Given the description of an element on the screen output the (x, y) to click on. 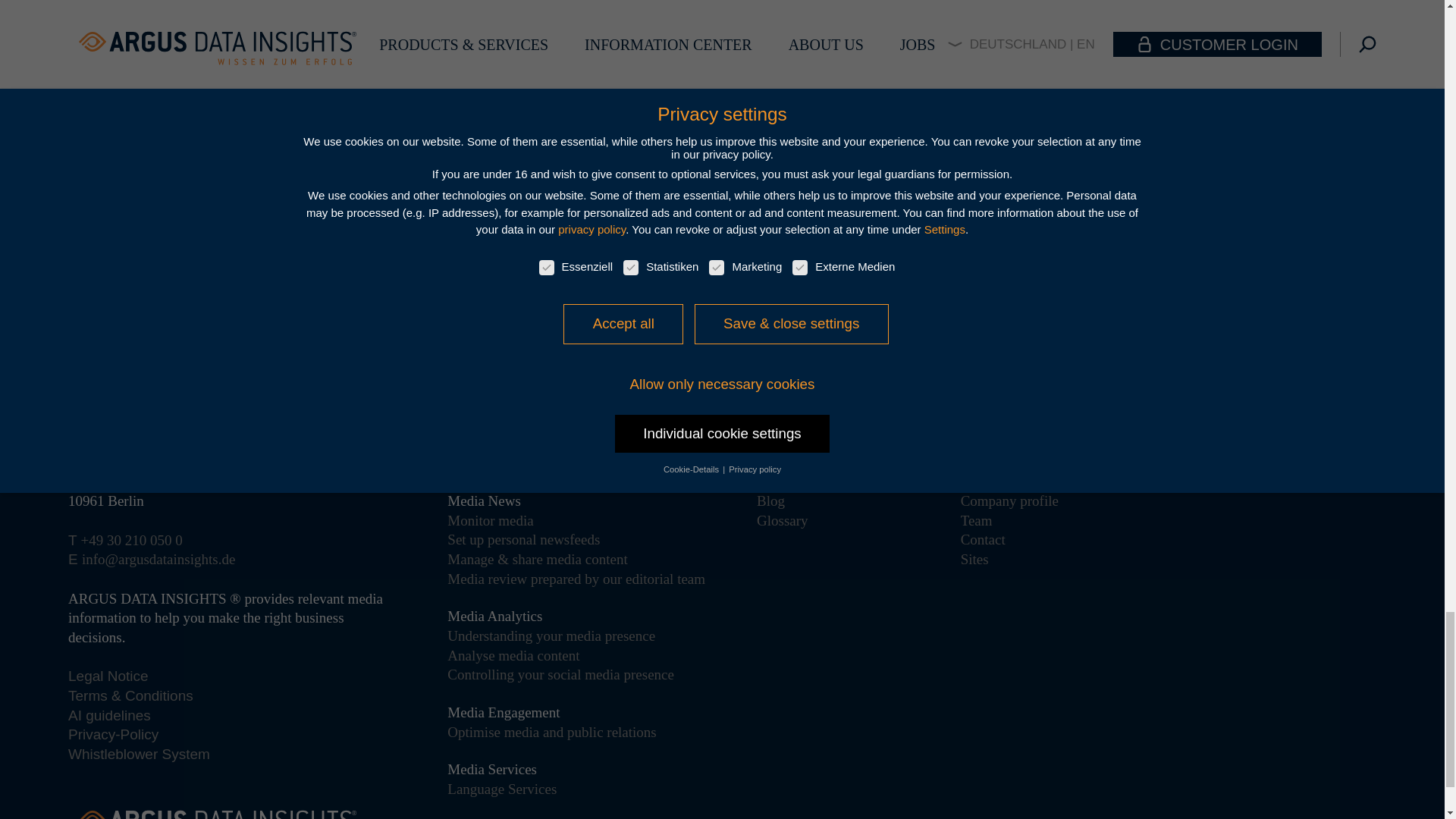
AI guidelines (109, 715)
Legal Notice (108, 675)
Media Engagement (502, 712)
Optimise media and public relations (551, 731)
Analyse media content (512, 655)
Media review prepared by our editorial team (575, 578)
Anmelden (1123, 330)
Media Analytics (493, 616)
Set up personal newsfeeds (522, 539)
Understanding your media presence (550, 635)
Controlling your social media presence (560, 674)
Whistleblower System (138, 754)
Anmelden (1123, 330)
Privacy-Policy (113, 734)
Discover (332, 313)
